Given the description of an element on the screen output the (x, y) to click on. 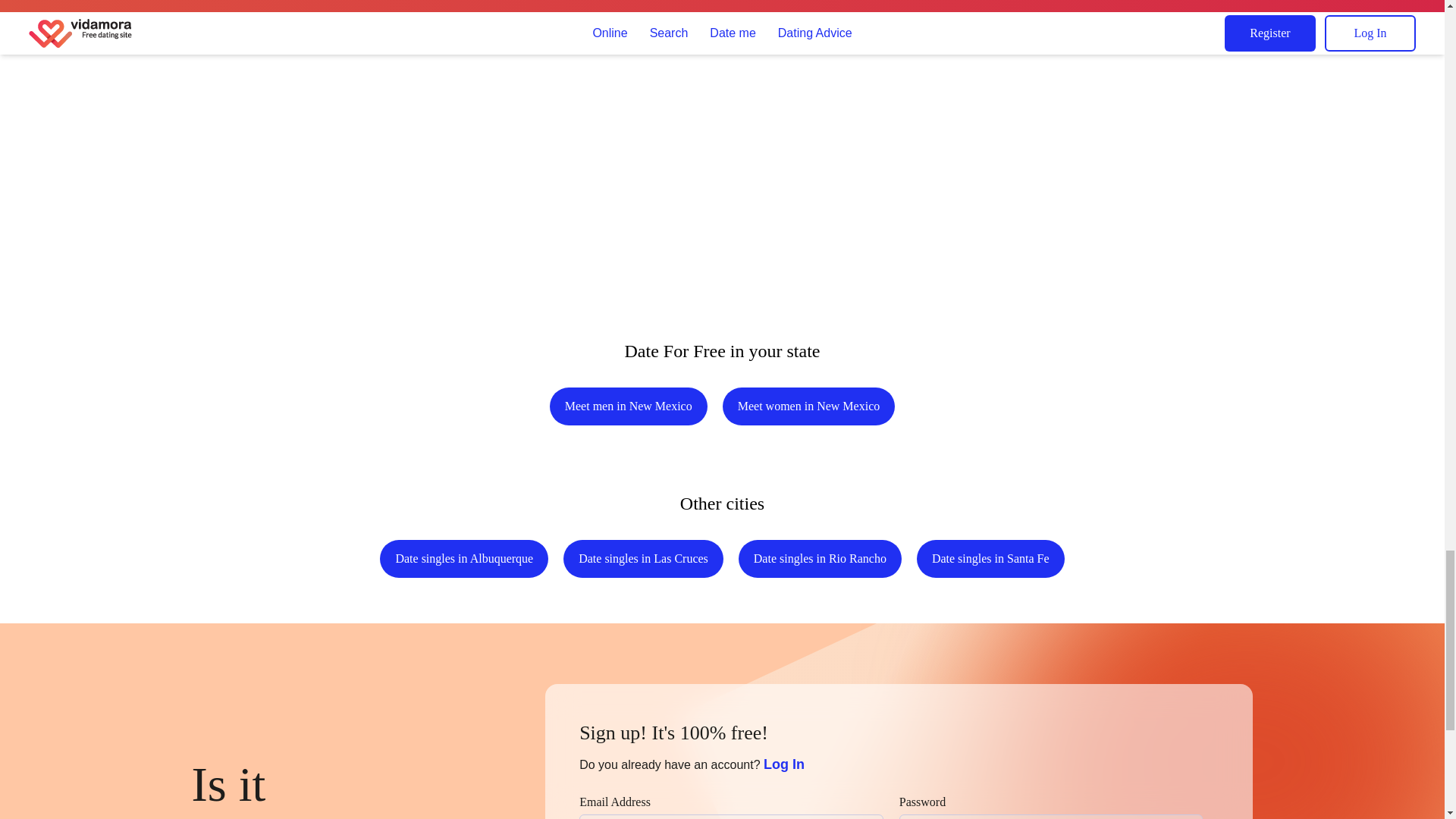
Date singles in Santa Fe (990, 558)
Meet women in New Mexico (808, 406)
Date singles in Rio Rancho (819, 558)
Meet men in New Mexico (628, 406)
Log In (783, 764)
Register (698, 5)
Date singles in Las Cruces (643, 558)
Date singles in Rio Rancho (819, 558)
Date singles in Albuquerque (464, 558)
Meet men in New Mexico (628, 406)
